Given the description of an element on the screen output the (x, y) to click on. 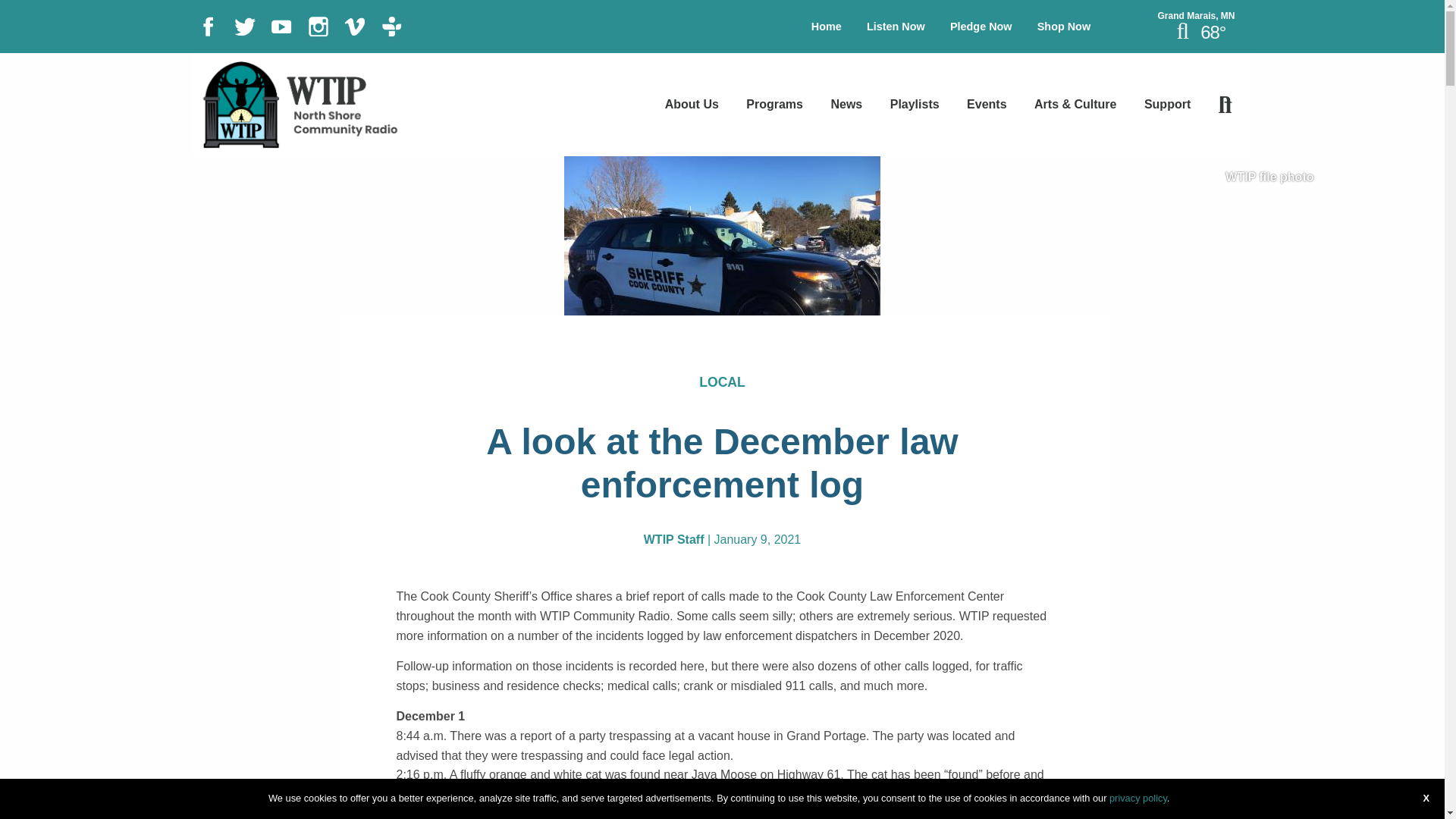
TuneIn (392, 24)
Vimeo (354, 24)
YouTube (281, 24)
WTIP Staff (673, 539)
Twitter (245, 24)
Grand Marais MN Weather (1195, 15)
WTIP (298, 103)
Instagram (317, 24)
Facebook (207, 24)
